Given the description of an element on the screen output the (x, y) to click on. 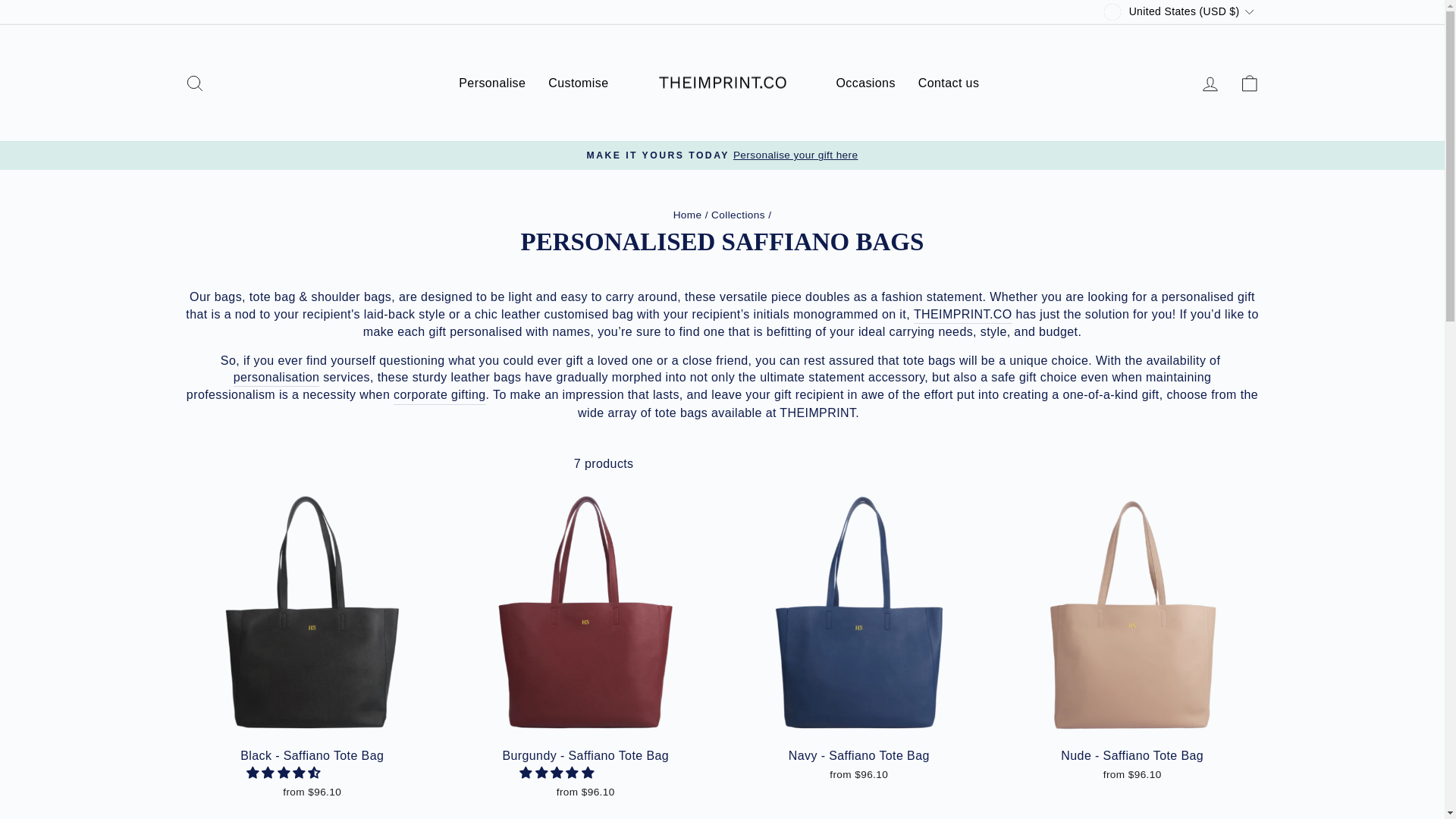
Back to the frontpage (686, 214)
